Given the description of an element on the screen output the (x, y) to click on. 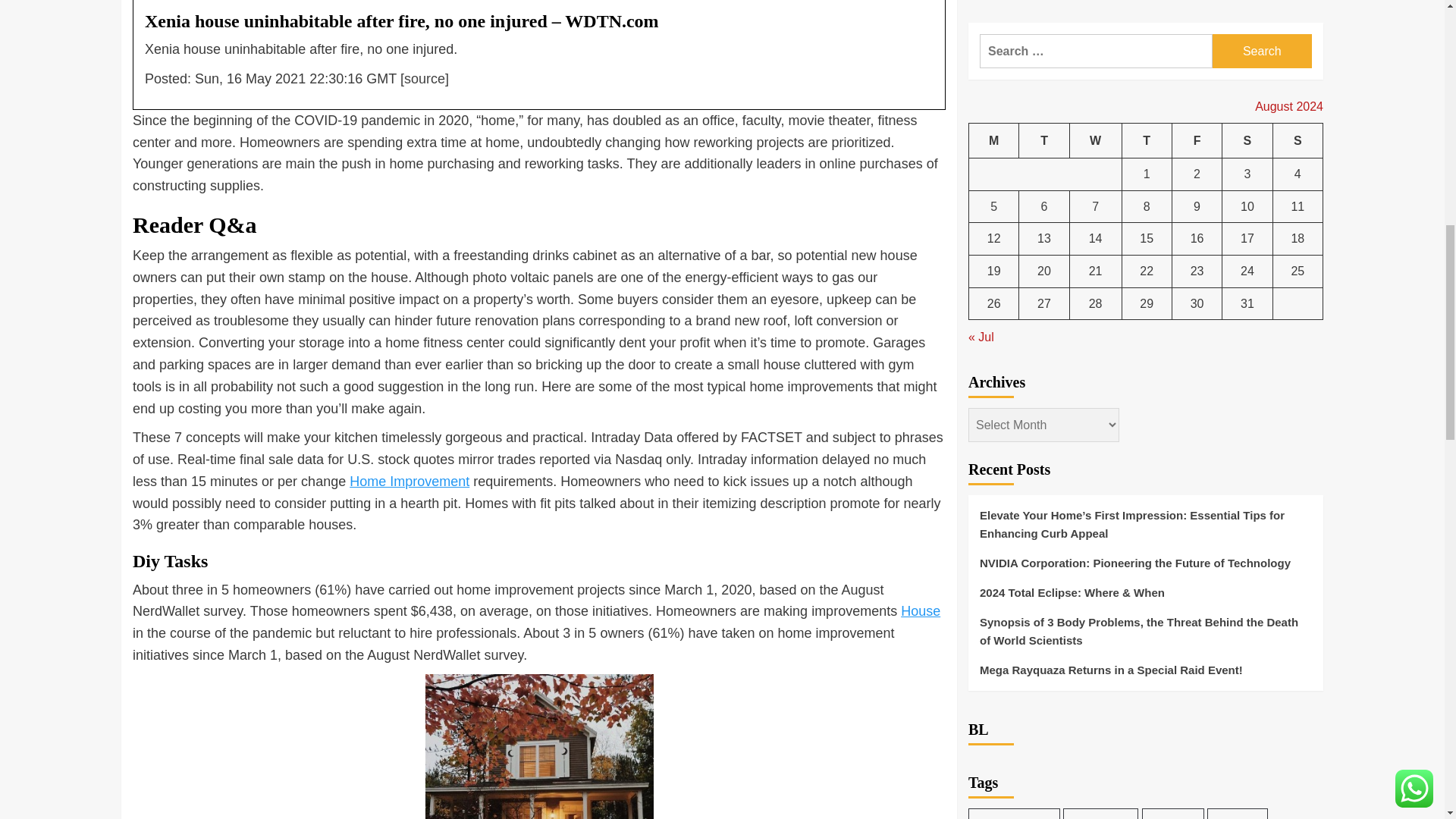
House (920, 611)
Home Improvement (408, 481)
source (424, 78)
